Given the description of an element on the screen output the (x, y) to click on. 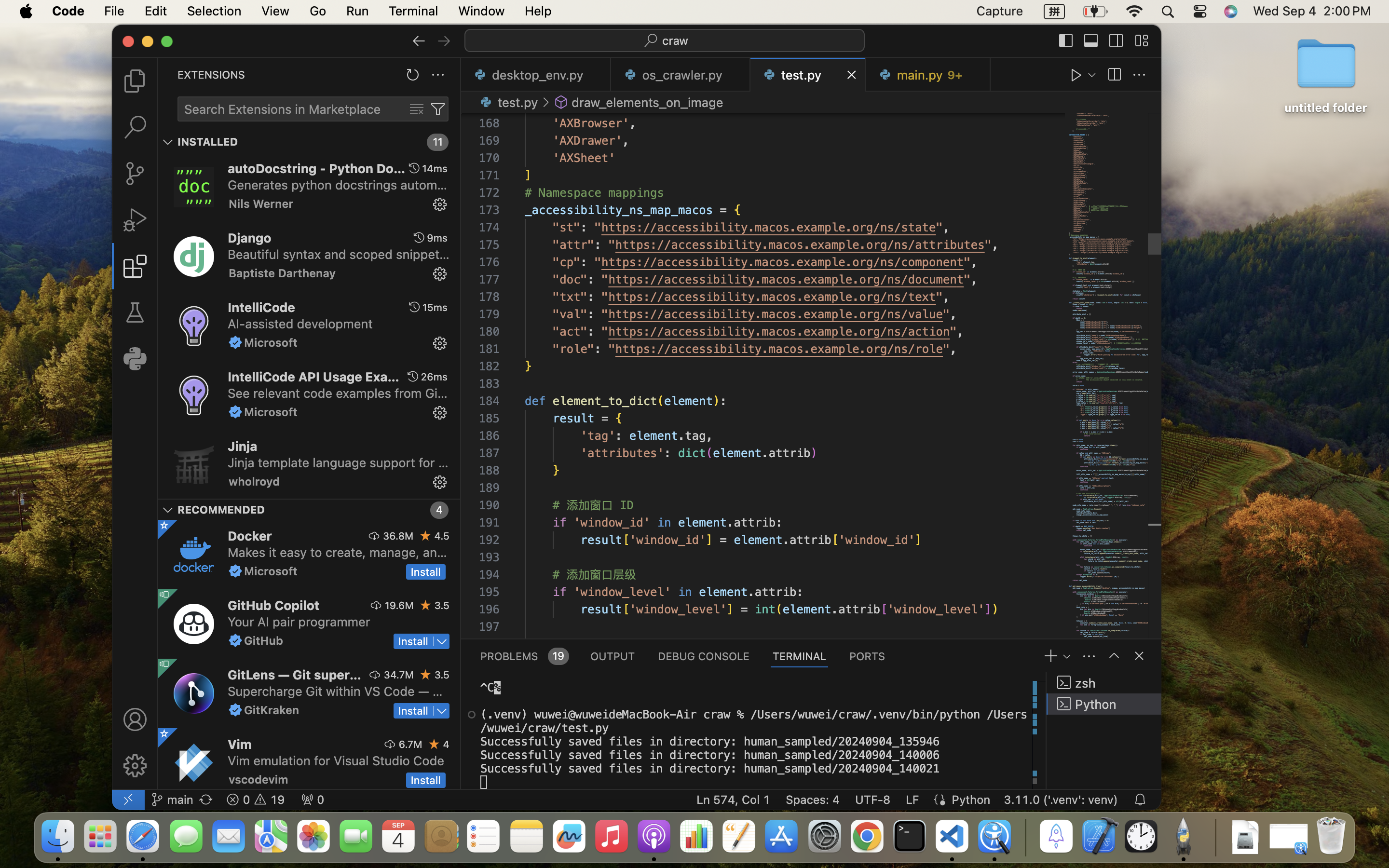
Nils Werner Element type: AXStaticText (261, 203)
 Element type: AXStaticText (134, 719)
 Element type: AXStaticText (373, 535)
Vim emulation for Visual Studio Code Element type: AXStaticText (335, 760)
GitLens — Git supercharged Element type: AXStaticText (294, 674)
